Given the description of an element on the screen output the (x, y) to click on. 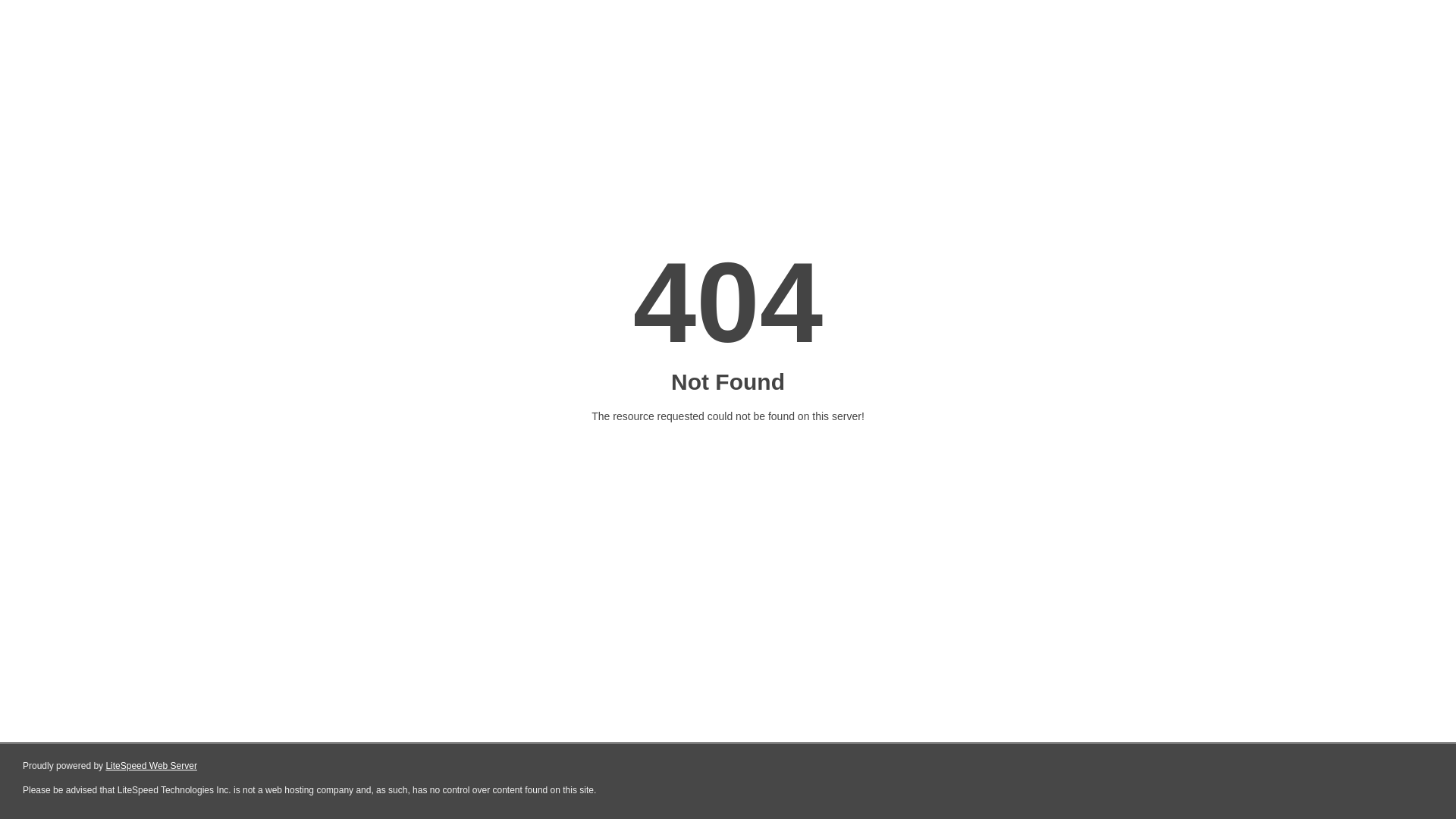
LiteSpeed Web Server Element type: text (151, 765)
